Given the description of an element on the screen output the (x, y) to click on. 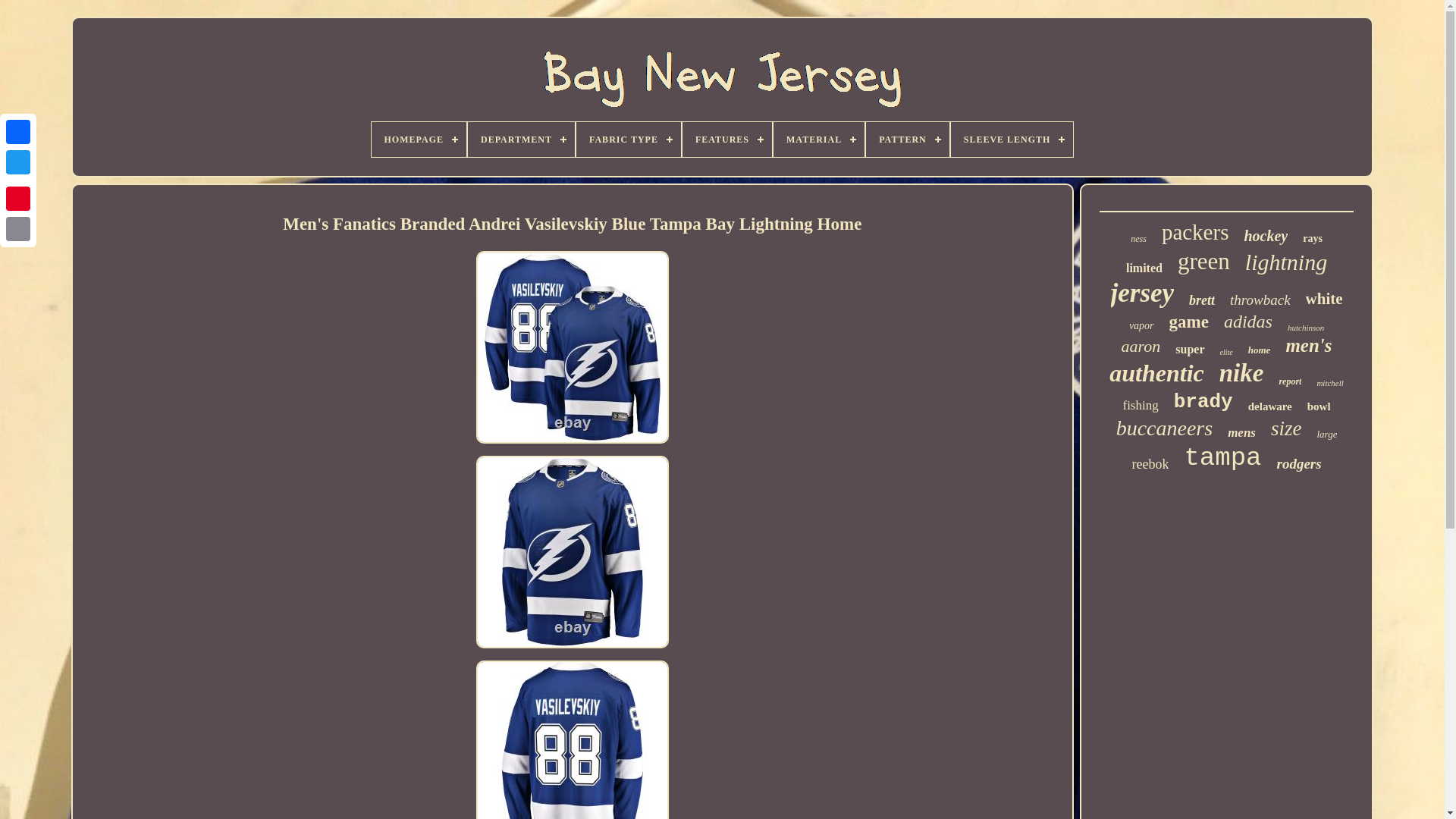
FEATURES (726, 139)
FABRIC TYPE (628, 139)
MATERIAL (818, 139)
PATTERN (907, 139)
DEPARTMENT (521, 139)
HOMEPAGE (418, 139)
